Given the description of an element on the screen output the (x, y) to click on. 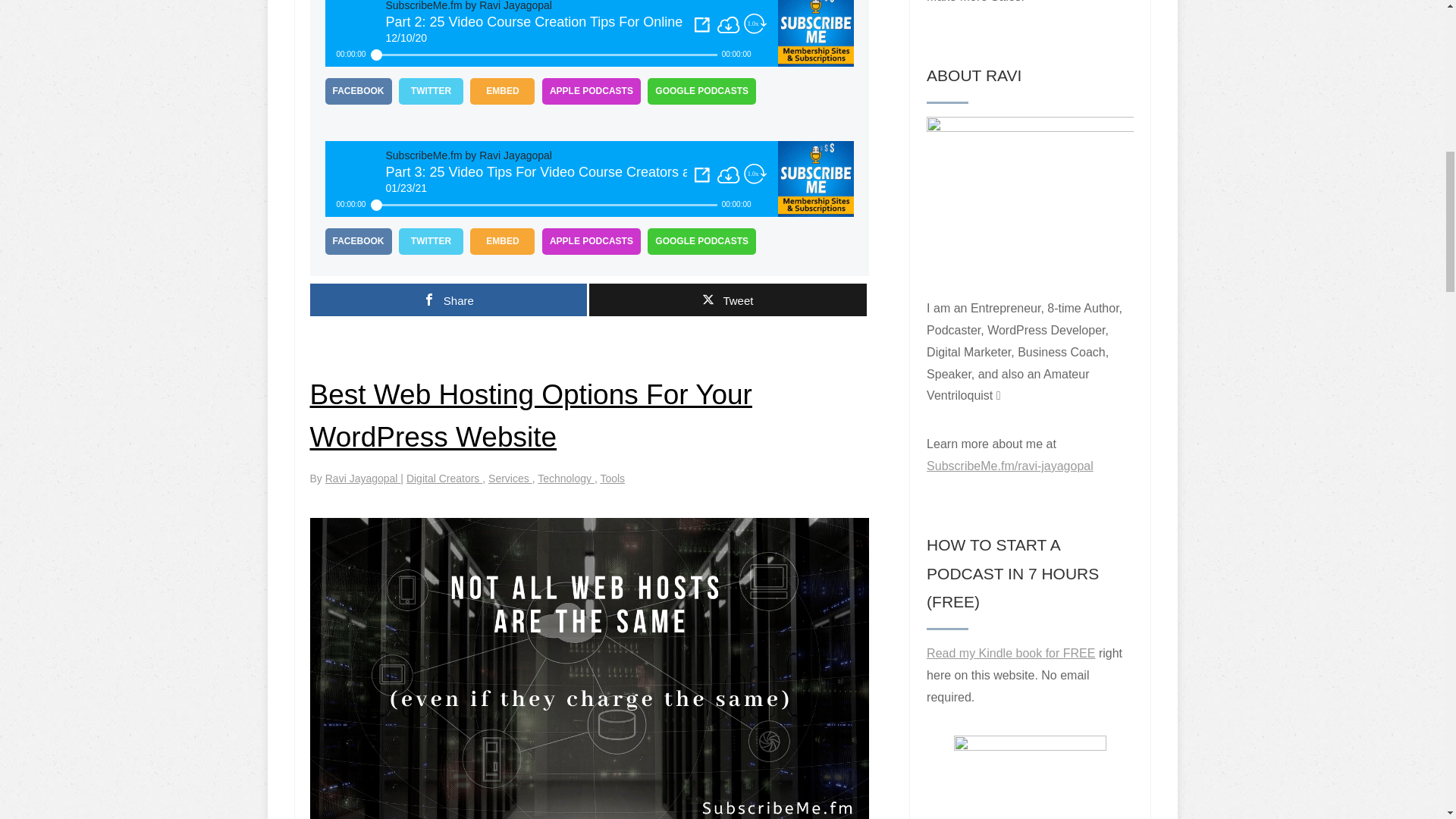
FACEBOOK (357, 241)
Open In New Window (702, 24)
Tweet (727, 299)
GOOGLE PODCASTS (701, 90)
Share (447, 299)
Download This Episode (728, 24)
Download This Episode (728, 174)
Open In New Window (702, 174)
GOOGLE PODCASTS (701, 241)
Best Web Hosting Options For Your WordPress Website (529, 415)
APPLE PODCASTS (590, 241)
APPLE PODCASTS (590, 90)
EMBED (502, 90)
